Given the description of an element on the screen output the (x, y) to click on. 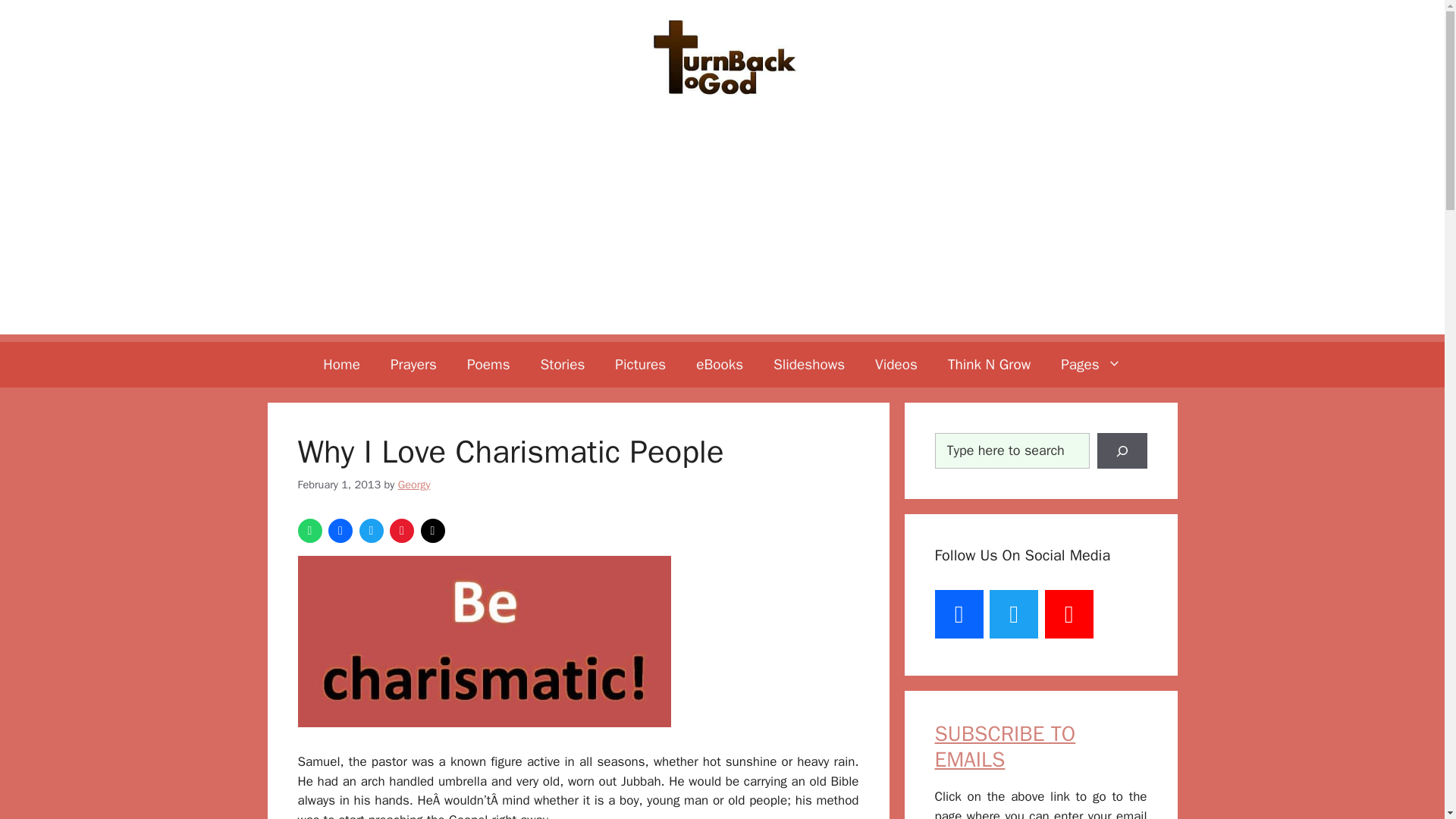
Share via Twitter (371, 530)
Turnback To God (721, 56)
Slideshows (809, 364)
Stories (562, 364)
Poems (488, 364)
Share via Facebook (340, 530)
Pages (1091, 364)
Save this as PDF (401, 530)
Share via WhatsApp (309, 530)
View all posts by Georgy (413, 484)
Turnback To God (721, 57)
eBooks (719, 364)
Why I Love Charismatic People (483, 641)
Georgy (413, 484)
Think N Grow (989, 364)
